Given the description of an element on the screen output the (x, y) to click on. 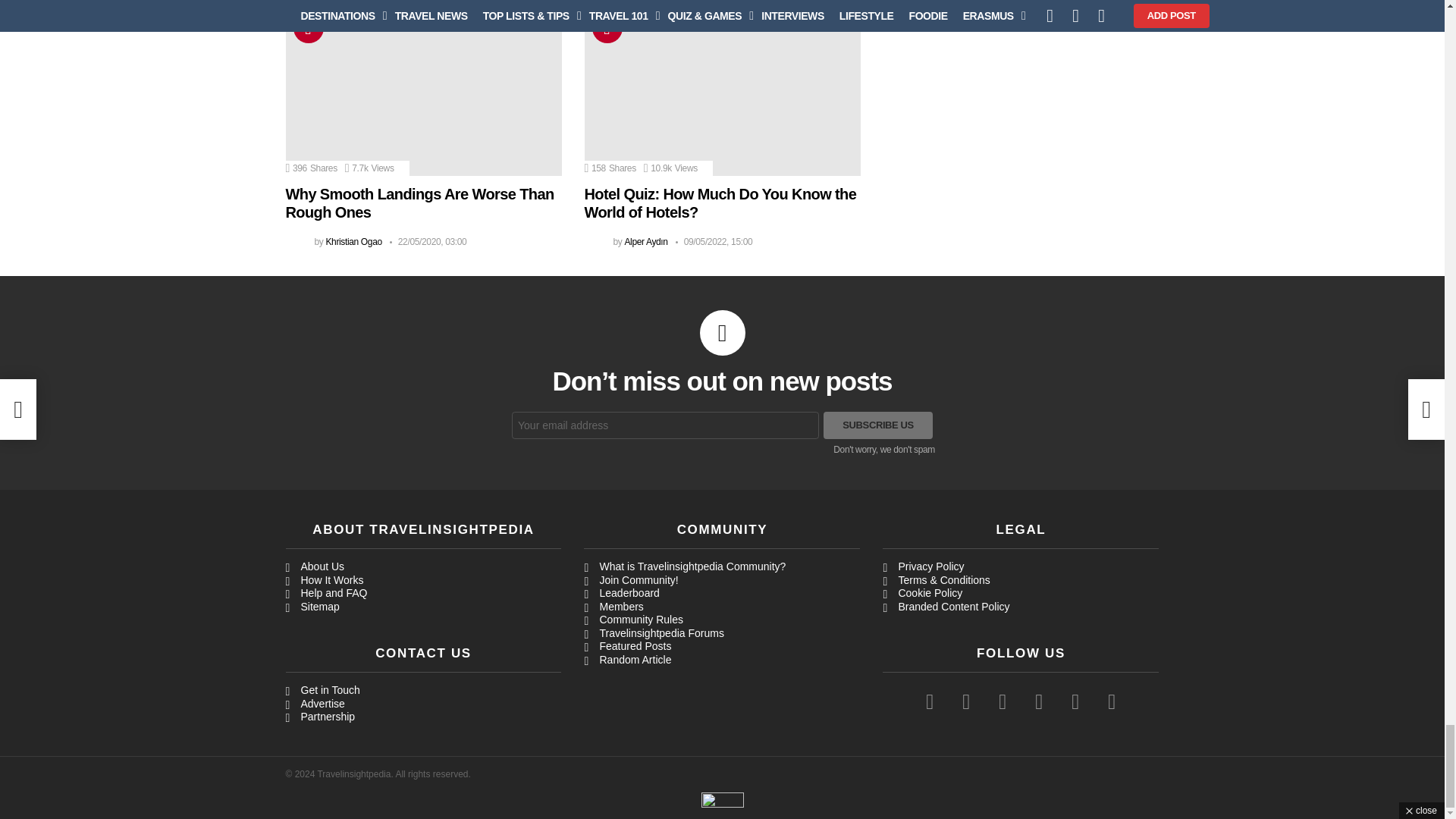
Subscribe us (878, 424)
